Given the description of an element on the screen output the (x, y) to click on. 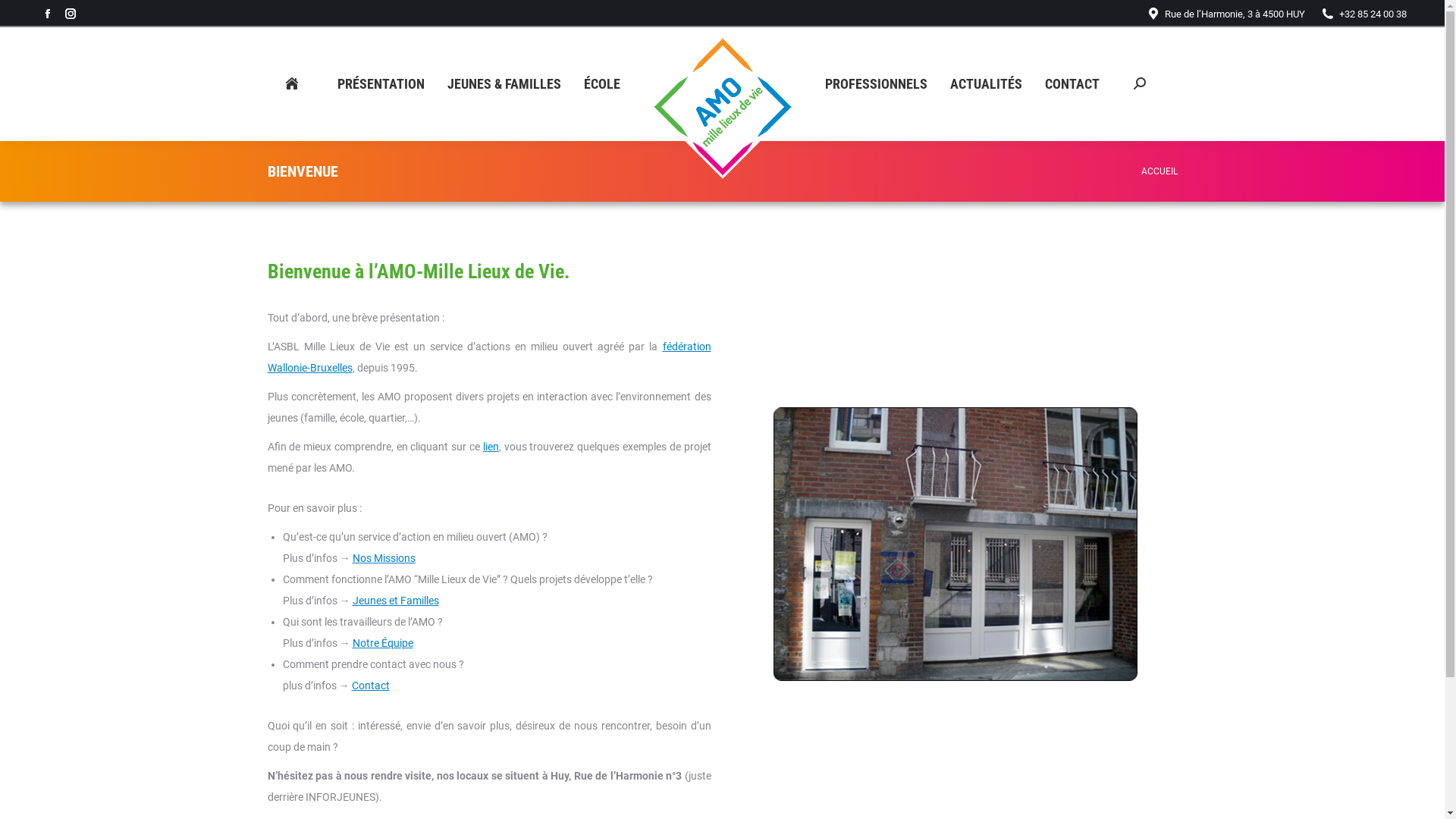
Go! Element type: text (22, 15)
Instagram page opens in new window Element type: text (70, 13)
CONTACT Element type: text (1071, 83)
JEUNES & FAMILLES Element type: text (504, 83)
PROFESSIONNELS Element type: text (876, 83)
ACCUEIL Element type: text (1158, 171)
facade Element type: hover (955, 543)
Nos Missions Element type: text (382, 558)
lien Element type: text (490, 446)
Contact Element type: text (370, 685)
Facebook page opens in new window Element type: text (47, 13)
Jeunes et Familles Element type: text (394, 600)
